Given the description of an element on the screen output the (x, y) to click on. 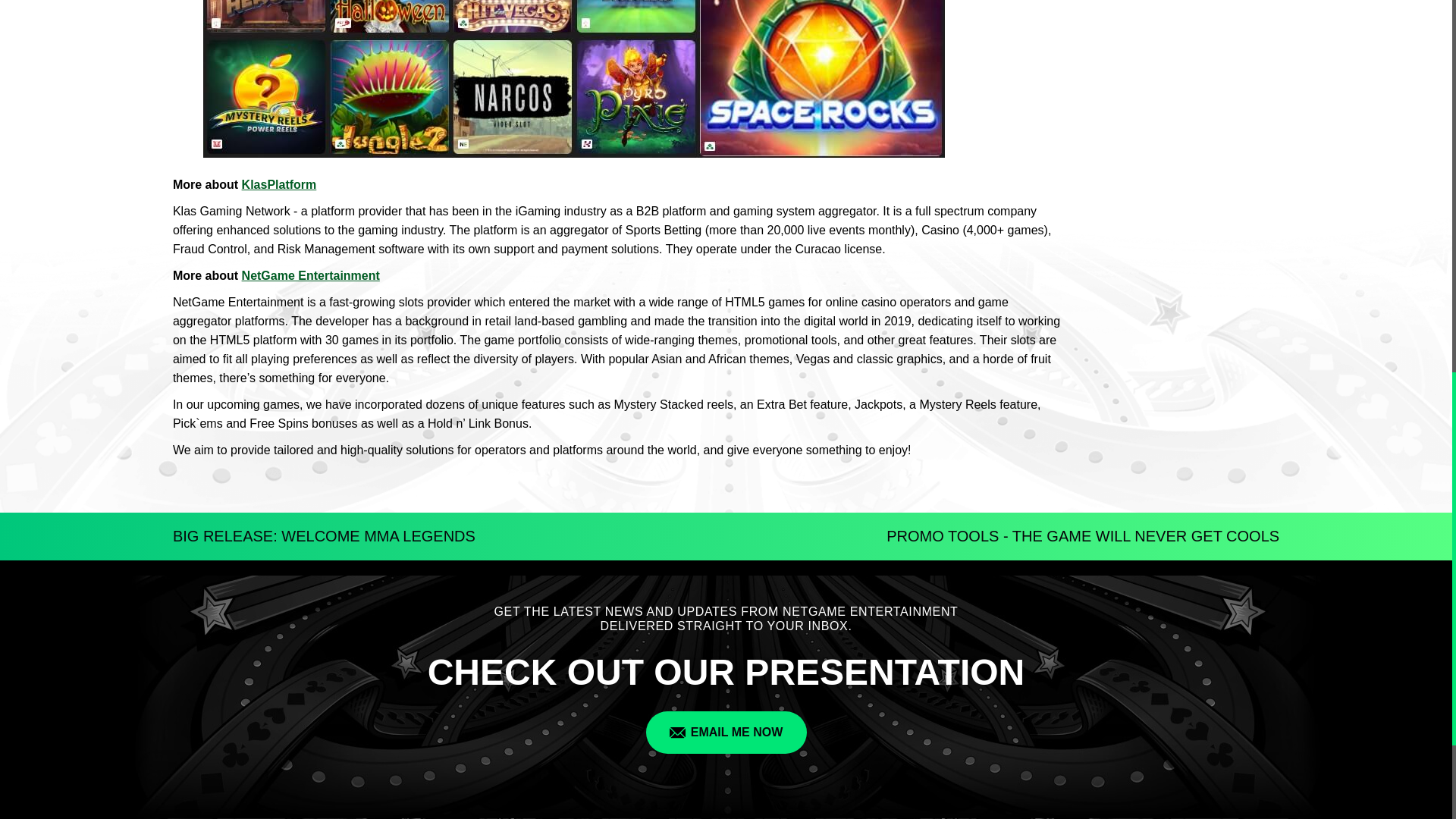
NetGame Entertainment (310, 275)
EMAIL ME NOW (726, 732)
PROMO TOOLS - THE GAME WILL NEVER GET COOLS (1082, 536)
BIG RELEASE: WELCOME MMA LEGENDS (324, 536)
KlasPlatform (279, 184)
